Given the description of an element on the screen output the (x, y) to click on. 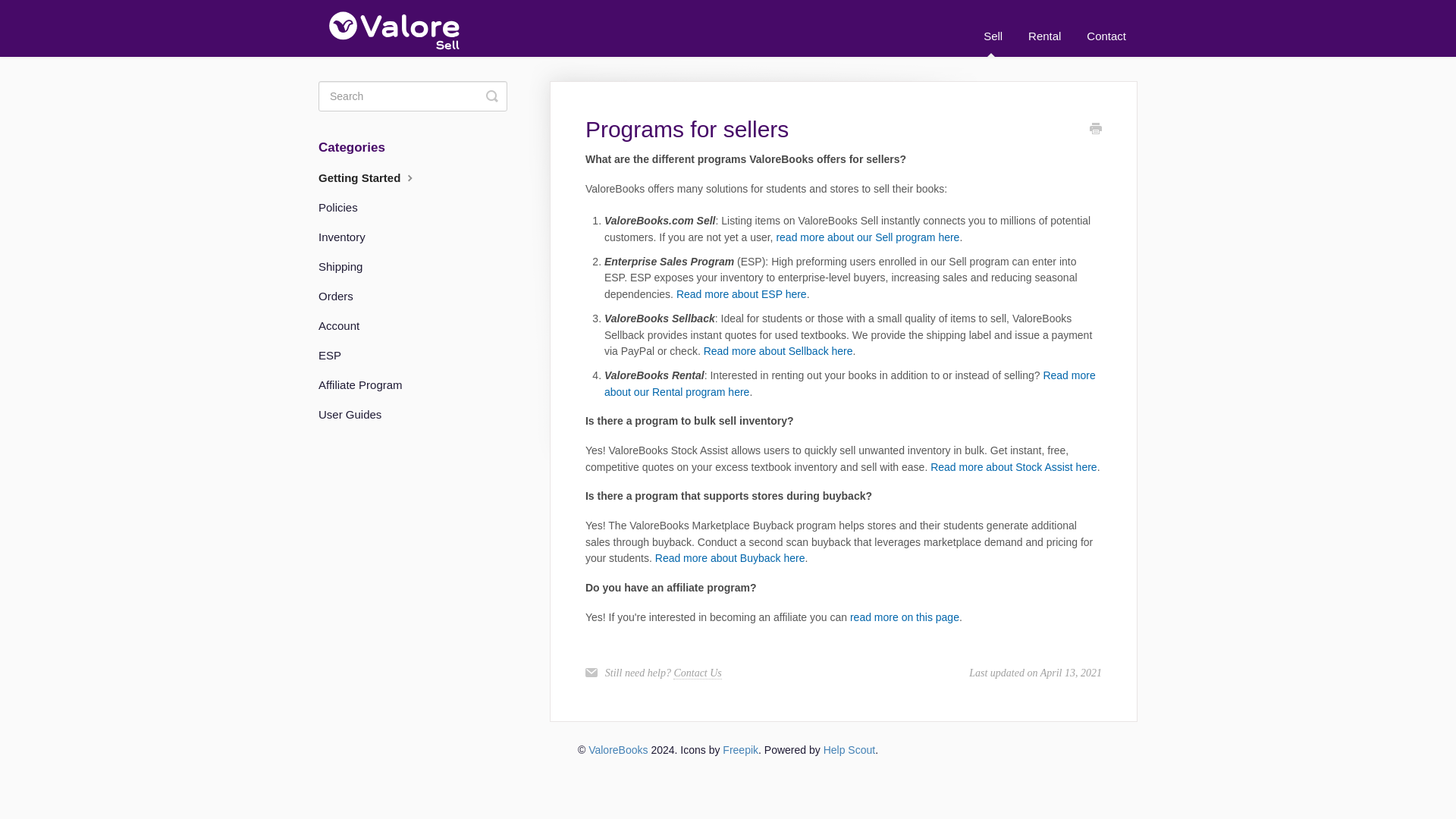
Help Scout (849, 749)
Orders (341, 296)
Read more about Sellback here (778, 350)
search-query (412, 96)
Getting Started (373, 177)
Sell (992, 35)
ValoreBooks (617, 749)
ESP (335, 355)
Read more about our Rental program here (850, 383)
Read more about Stock Assist here (1013, 467)
Read more about Buyback here (730, 558)
Inventory (347, 236)
Shipping (346, 266)
Contact (1106, 35)
Print this article (1095, 130)
